Given the description of an element on the screen output the (x, y) to click on. 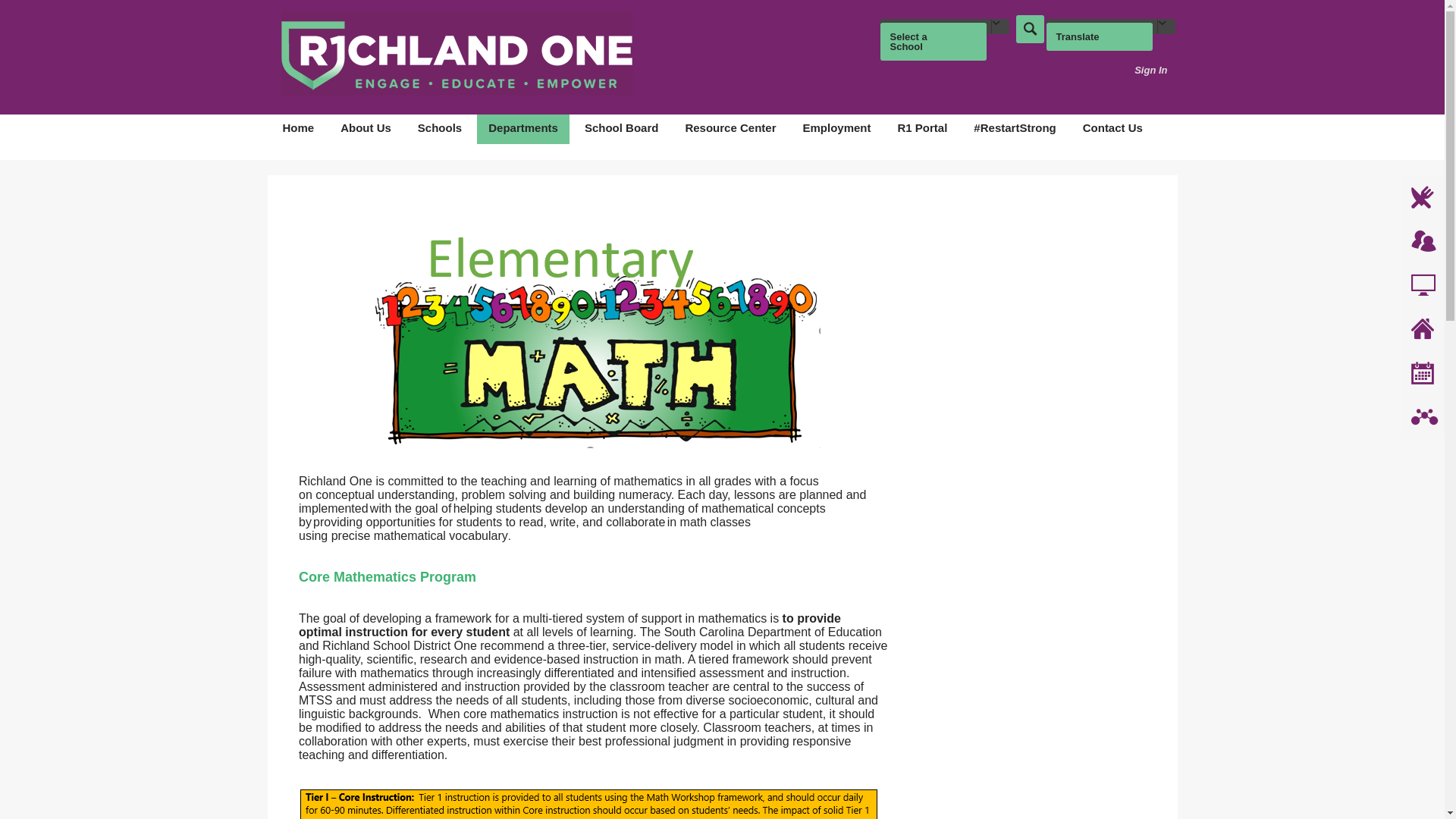
Richland County School District One (456, 53)
